Given the description of an element on the screen output the (x, y) to click on. 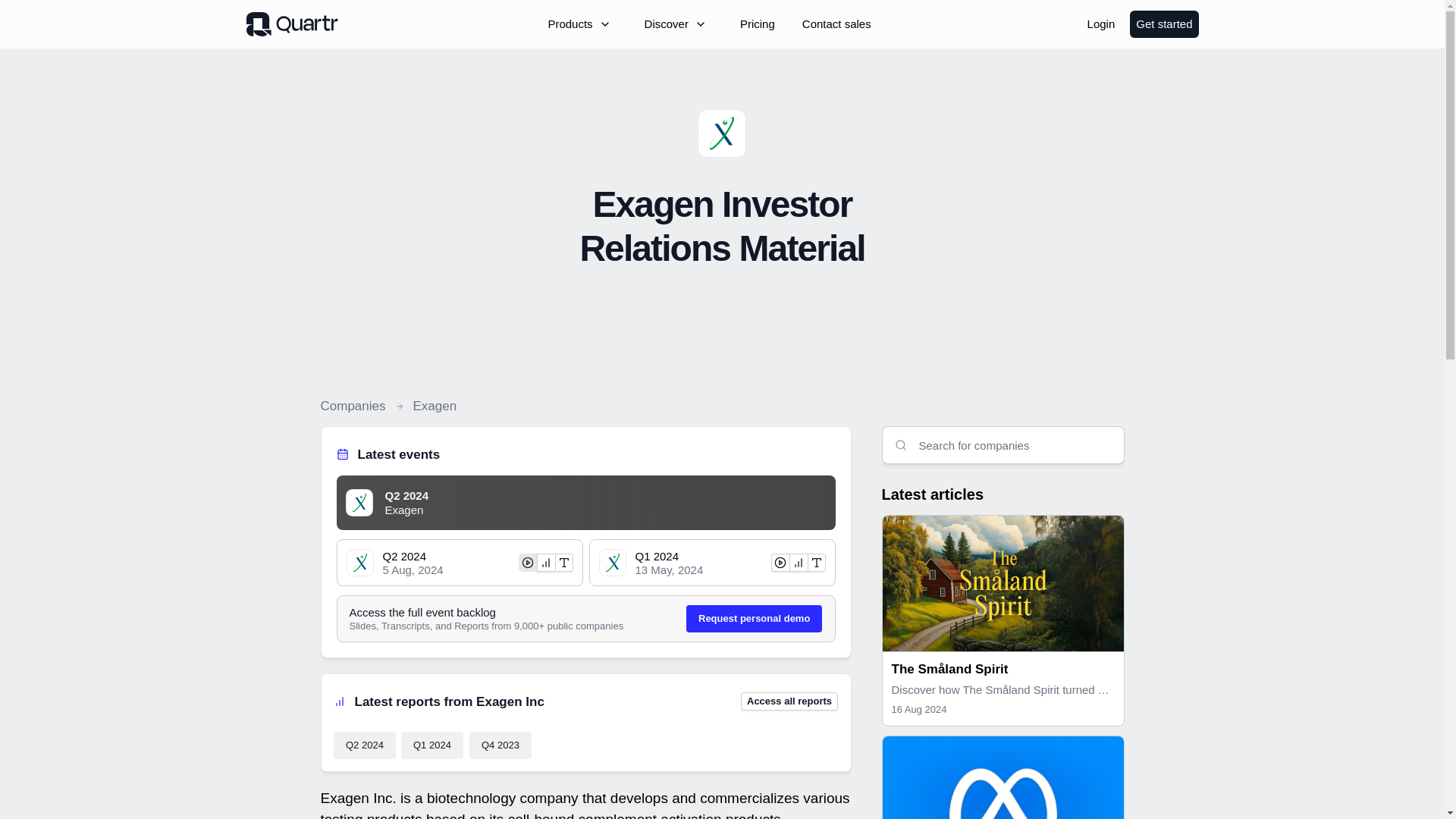
Q4 2023 (499, 745)
Access all reports (789, 701)
Quartr Audio Player (634, 505)
Get started (1163, 23)
Login (1101, 23)
Pricing (756, 23)
Q2 2024 (364, 745)
Contact sales (836, 23)
Q1 2024 (432, 745)
